Given the description of an element on the screen output the (x, y) to click on. 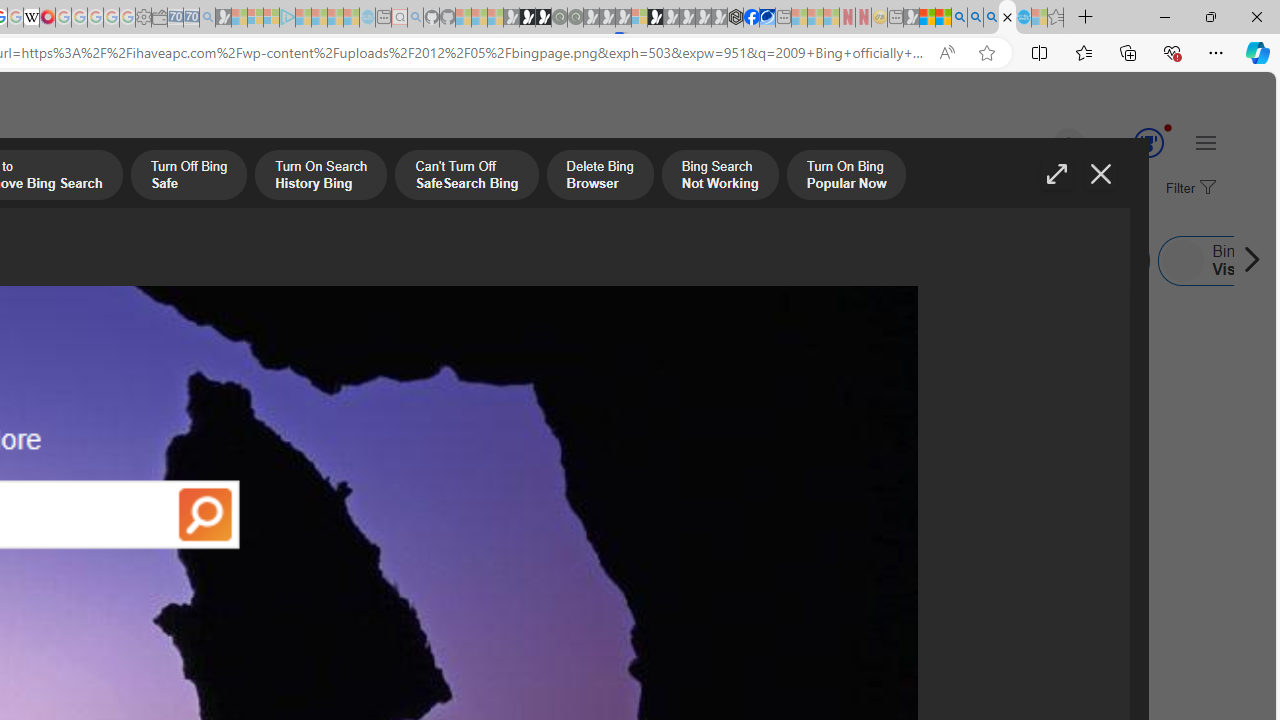
AirNow.gov (767, 17)
Search for: Windows Live Search (1069, 260)
Technology History timeline | Timetoast timelinesSave (189, 417)
Target page - Wikipedia (31, 17)
Bing Logo, symbol, meaning, history, PNG, brand (695, 508)
